Given the description of an element on the screen output the (x, y) to click on. 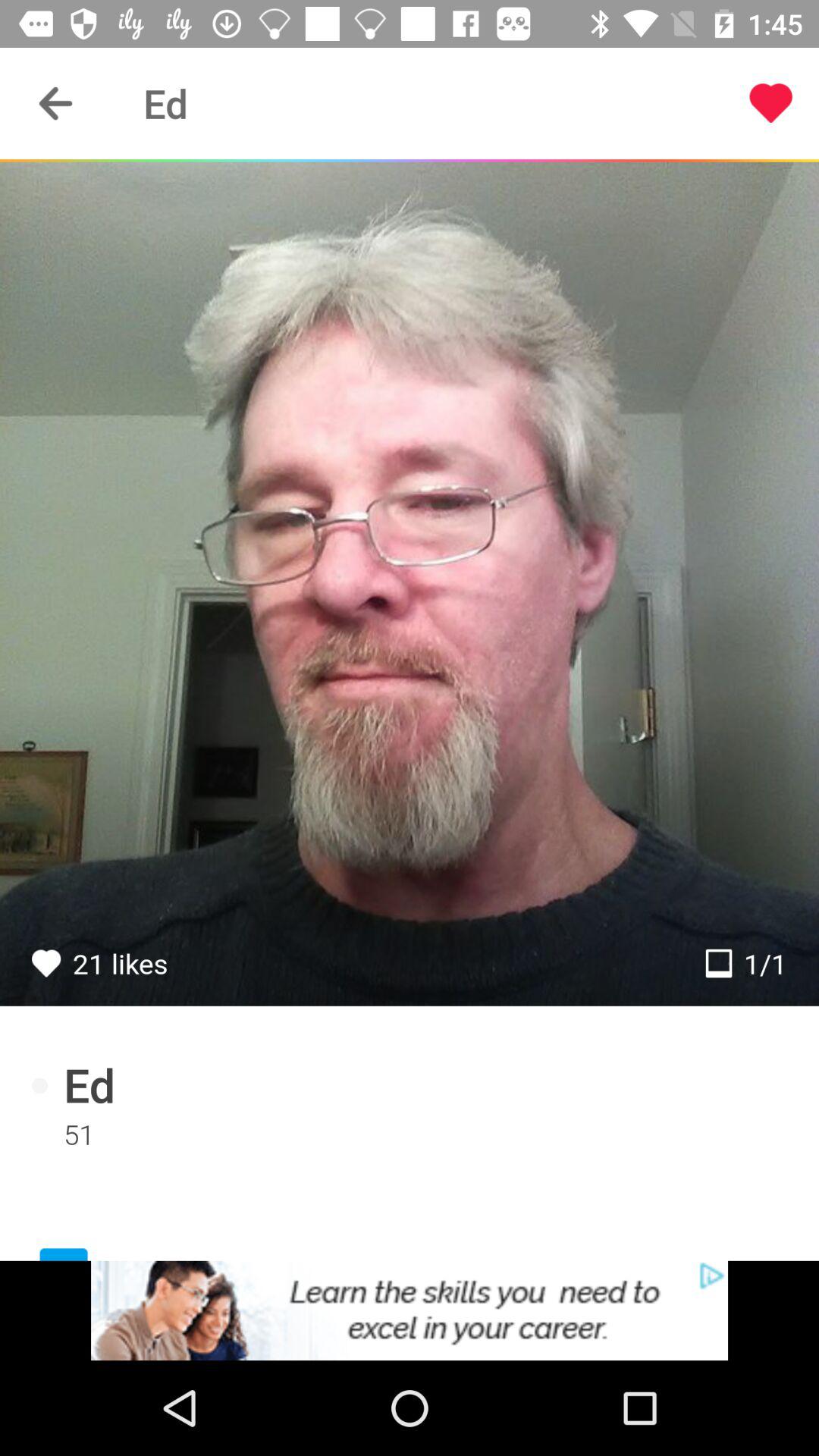
advertisements image (409, 1310)
